Given the description of an element on the screen output the (x, y) to click on. 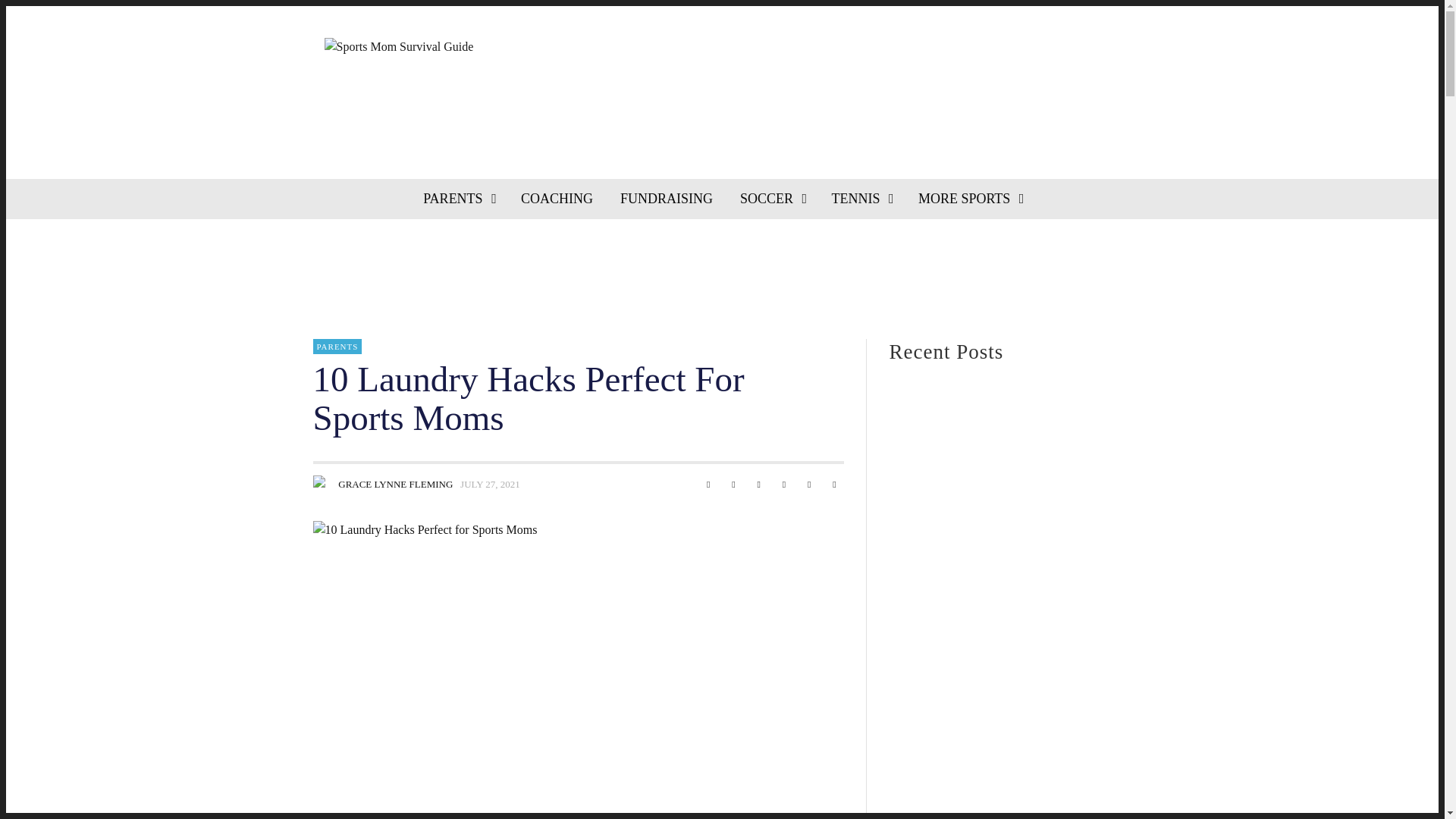
SOCCER (771, 199)
Posts by Grace Lynne Fleming (321, 484)
Permalink to 10 Laundry Hacks Perfect for Sports Moms (489, 483)
COACHING (556, 199)
PARENTS (457, 199)
View all posts in Parents (337, 346)
FUNDRAISING (666, 199)
